Given the description of an element on the screen output the (x, y) to click on. 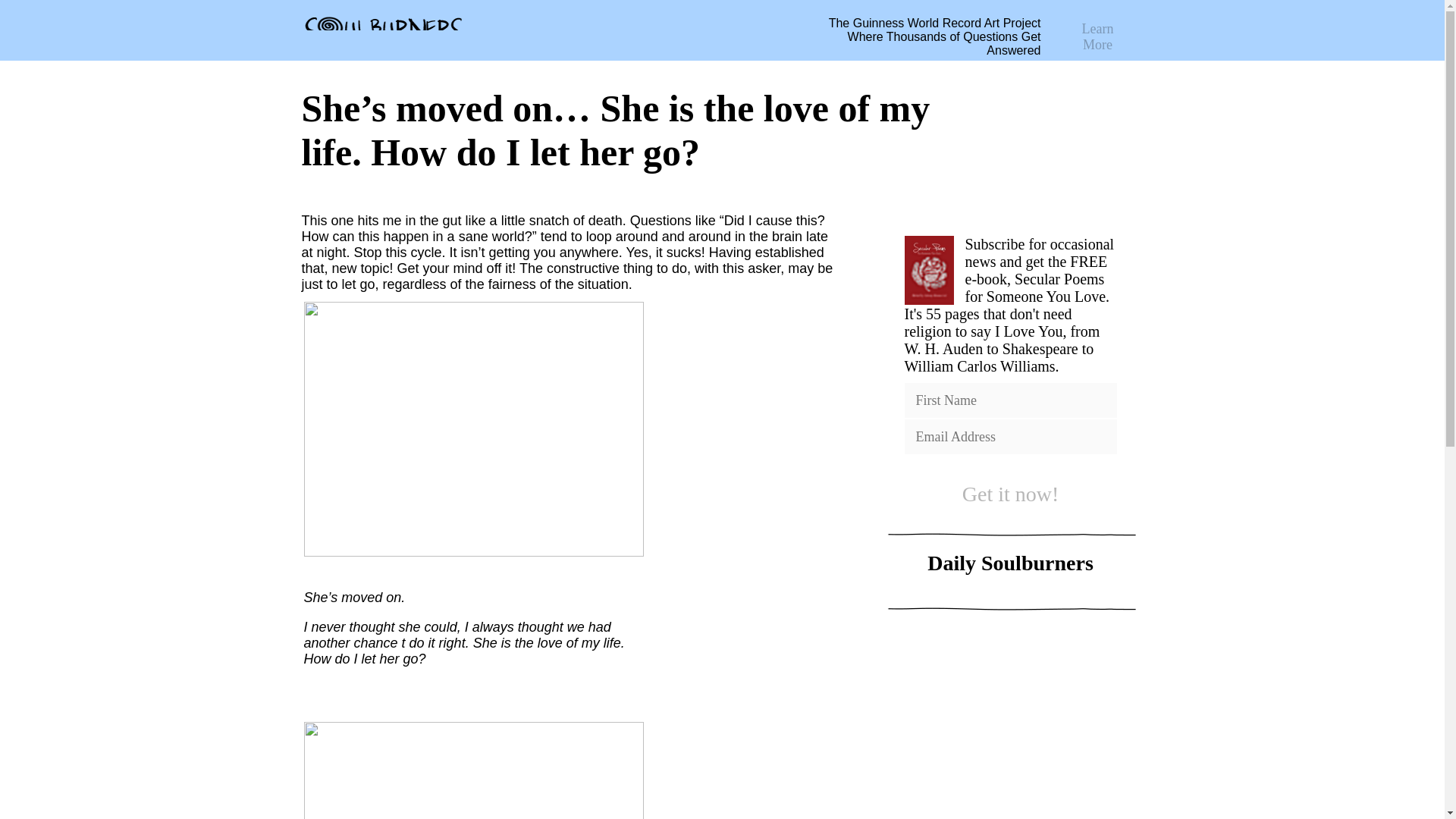
Learn More (1097, 31)
Get it now! (1010, 493)
